Given the description of an element on the screen output the (x, y) to click on. 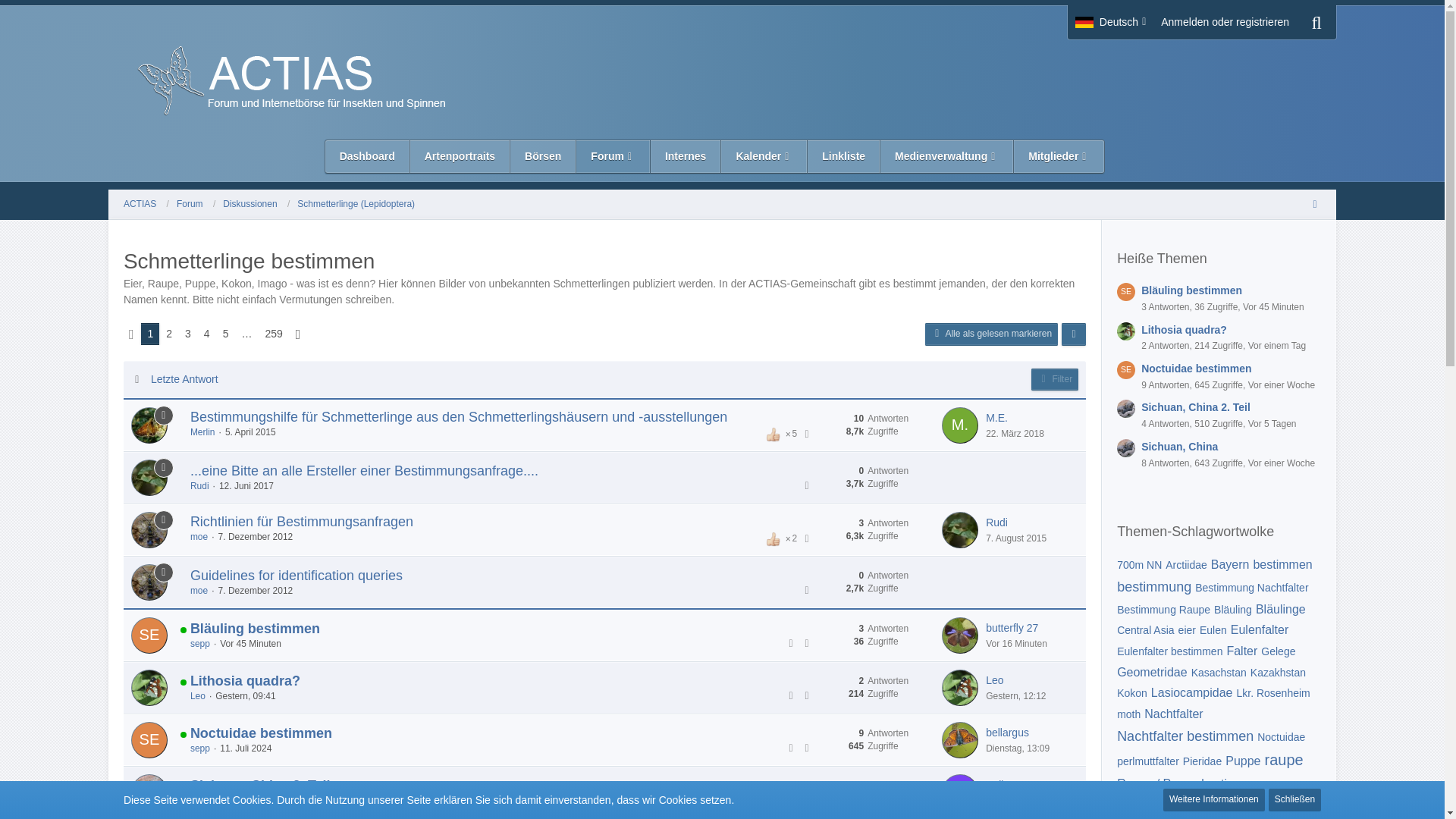
Kalender (764, 156)
7. Dezember 2012, 21:00 (256, 590)
Seite 3 (187, 333)
Forum (195, 204)
7. Dezember 2012, 20:56 (256, 536)
Seite 5 (225, 333)
Diskussionen (255, 204)
Artenportraits (460, 156)
Anmelden oder registrieren (1225, 21)
Mitglieder (1059, 156)
5. April 2015, 18:05 (250, 431)
Linkliste (844, 156)
Internes (685, 156)
ACTIAS (145, 204)
12. Juni 2017, 10:15 (246, 485)
